Given the description of an element on the screen output the (x, y) to click on. 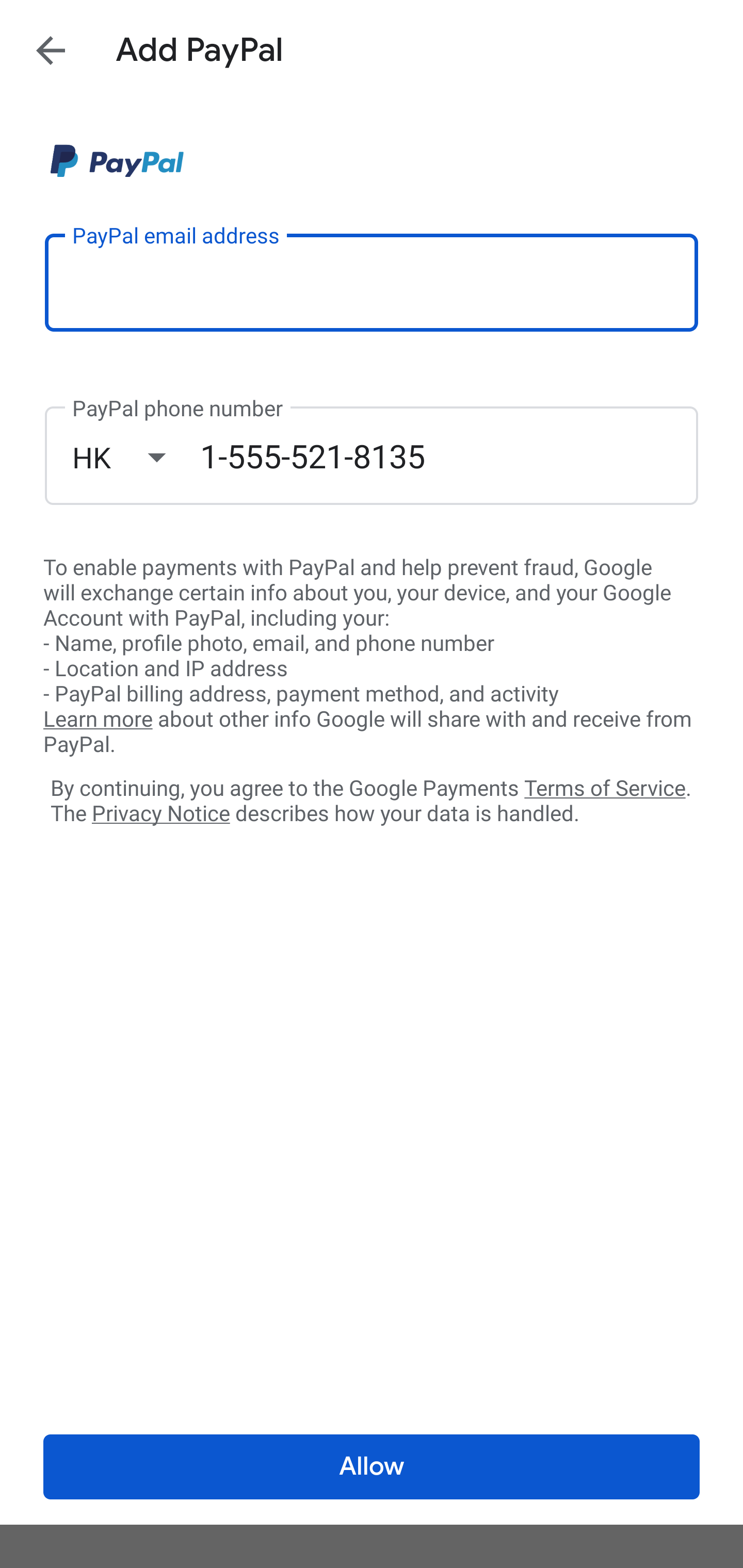
Navigate up (50, 50)
PayPal email address (371, 282)
HK (135, 456)
Learn more (97, 719)
Terms of Service (604, 787)
Privacy Notice (160, 814)
Allow (371, 1466)
